Given the description of an element on the screen output the (x, y) to click on. 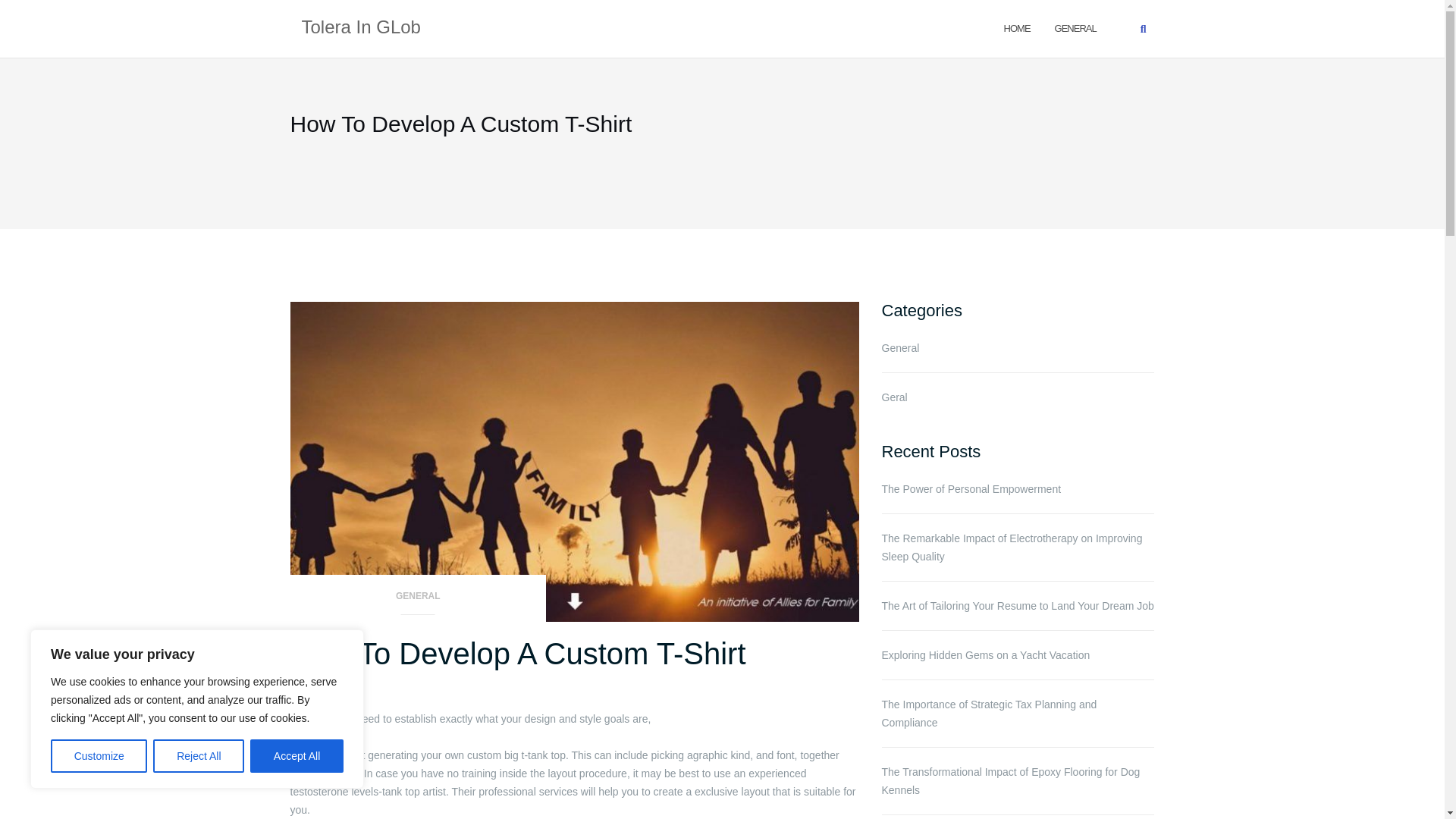
GENERAL (417, 601)
Accept All (296, 756)
Customize (98, 756)
Reject All (198, 756)
GENERAL (1075, 28)
General (1075, 28)
Tolera In GLob (360, 28)
How To Develop A Custom T-Shirt (517, 653)
